Given the description of an element on the screen output the (x, y) to click on. 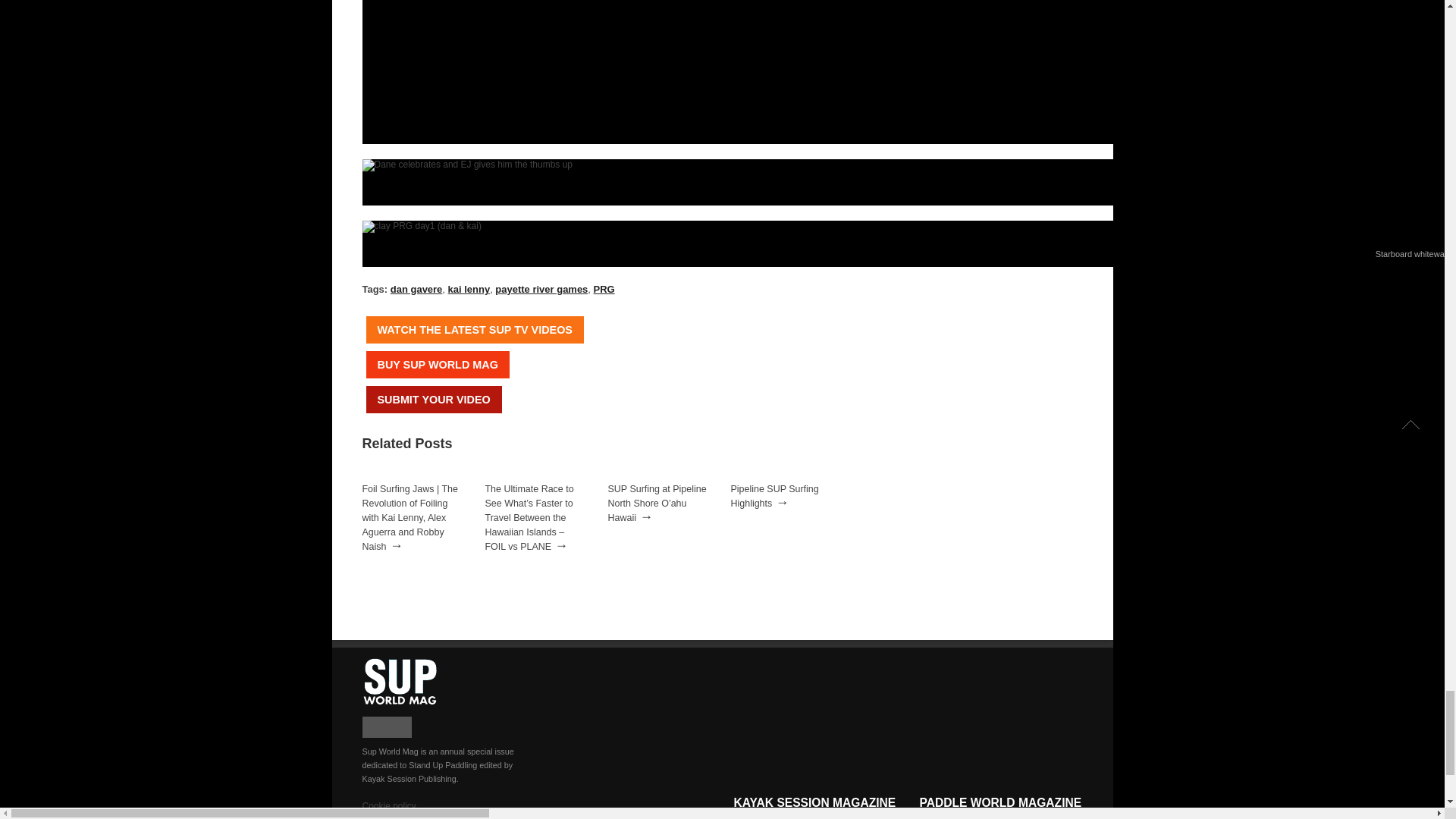
Buy Paddle World (436, 364)
dan gavere (416, 288)
Pipeline SUP Surfing Highlights (774, 496)
Watch the latest SUP TV Videos (474, 329)
Submit your video (432, 399)
